Given the description of an element on the screen output the (x, y) to click on. 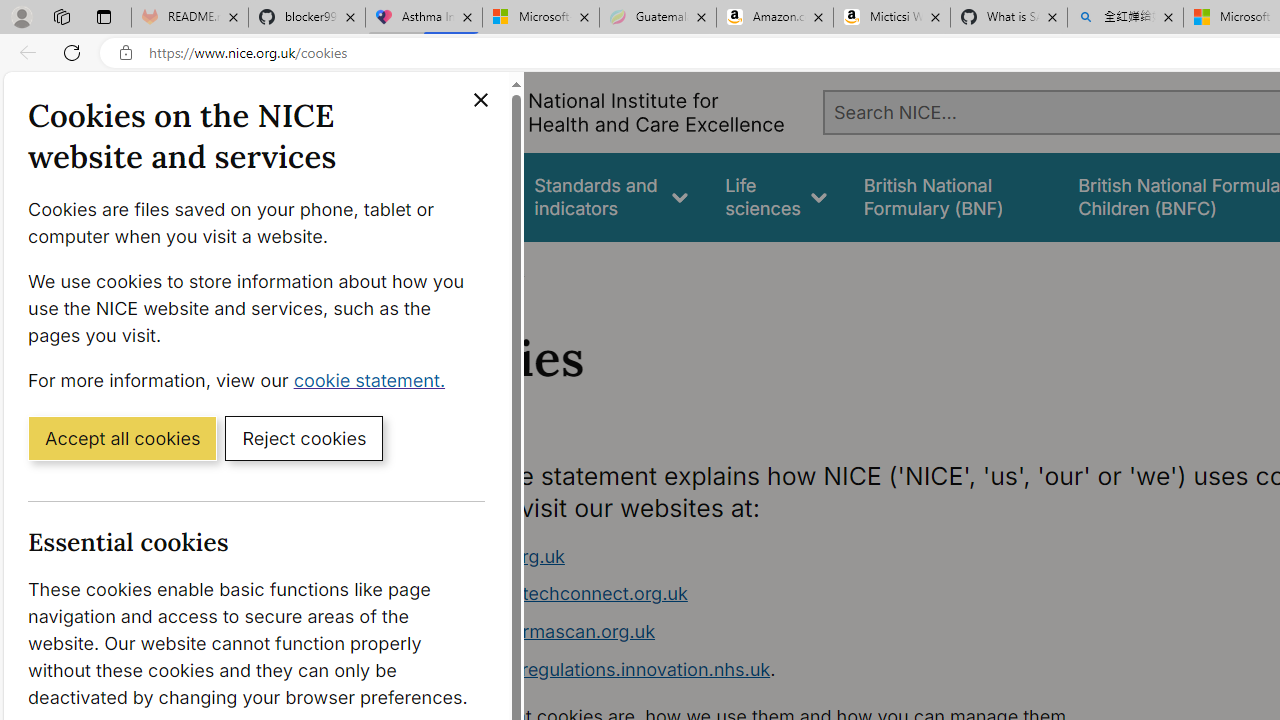
www.healthtechconnect.org.uk (796, 594)
Reject cookies (304, 437)
Guidance (458, 196)
www.digitalregulations.innovation.nhs.uk (595, 668)
www.nice.org.uk (796, 556)
Accept all cookies (122, 437)
